Given the description of an element on the screen output the (x, y) to click on. 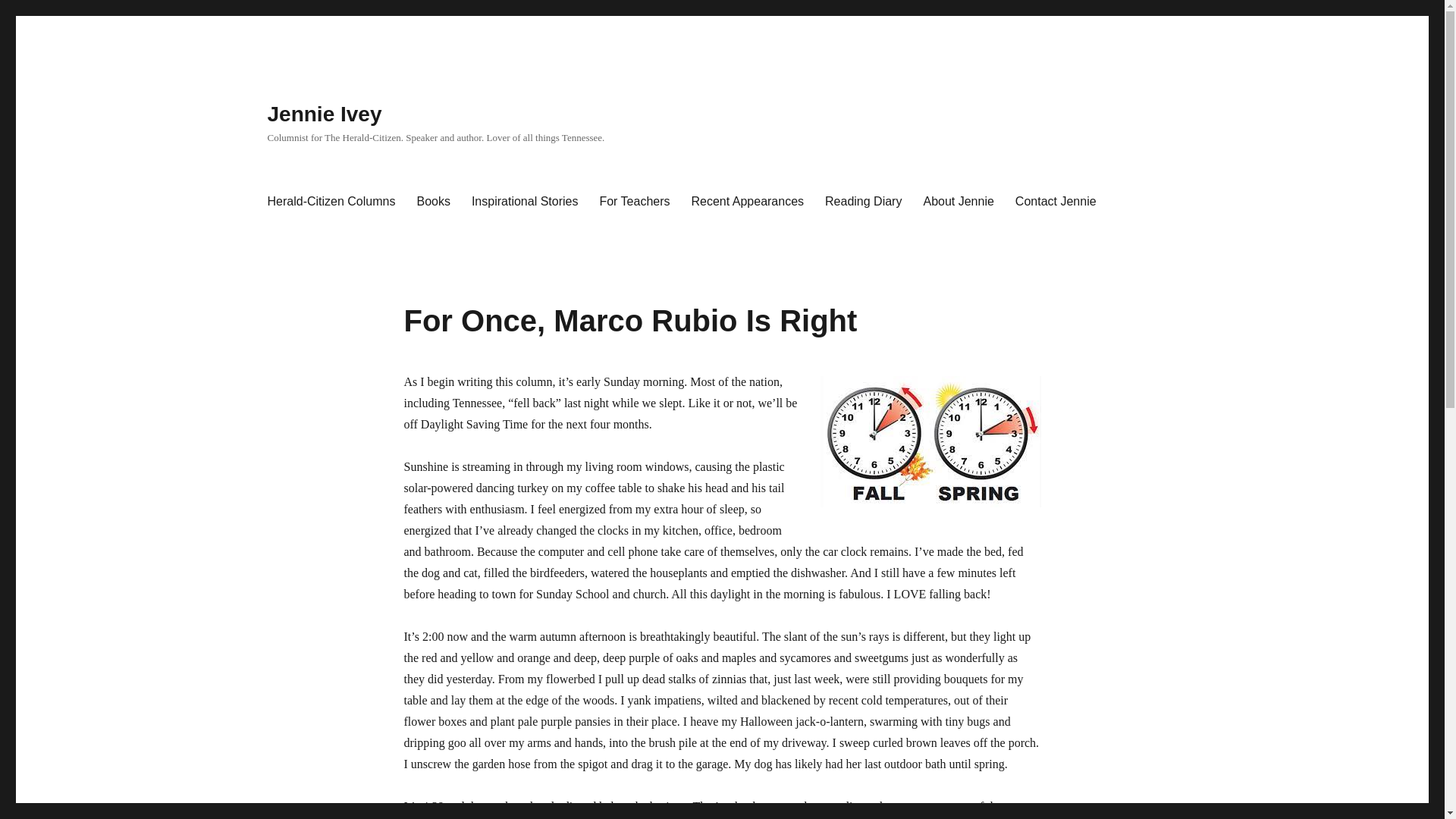
Herald-Citizen Columns (331, 201)
Inspirational Stories (525, 201)
Reading Diary (862, 201)
Jennie Ivey (323, 114)
For Teachers (633, 201)
Recent Appearances (748, 201)
Books (433, 201)
Contact Jennie (1055, 201)
About Jennie (958, 201)
